Given the description of an element on the screen output the (x, y) to click on. 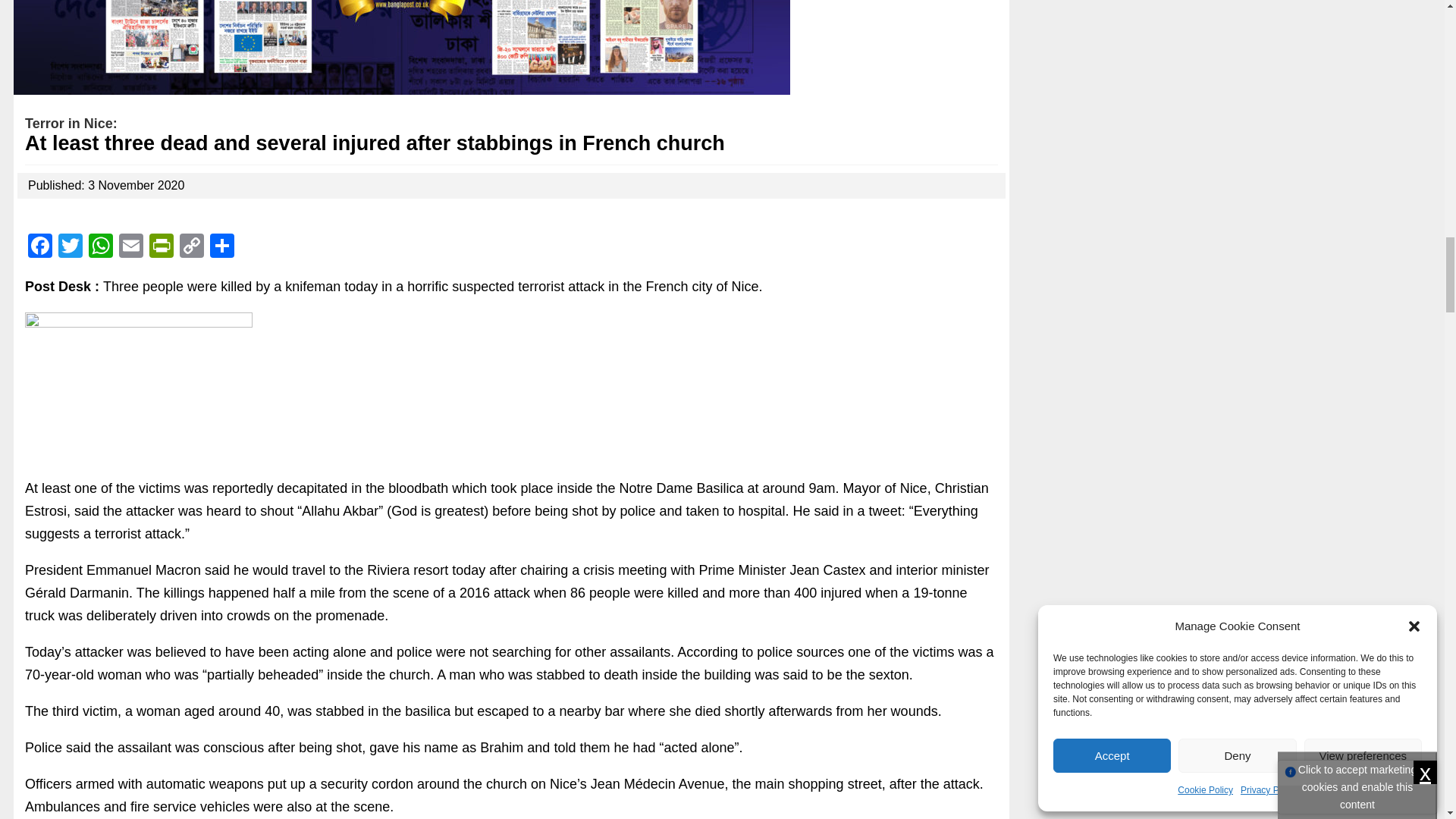
PrintFriendly (161, 247)
Twitter (70, 247)
WhatsApp (100, 247)
Email (131, 247)
Facebook (39, 247)
Copy Link (191, 247)
